Given the description of an element on the screen output the (x, y) to click on. 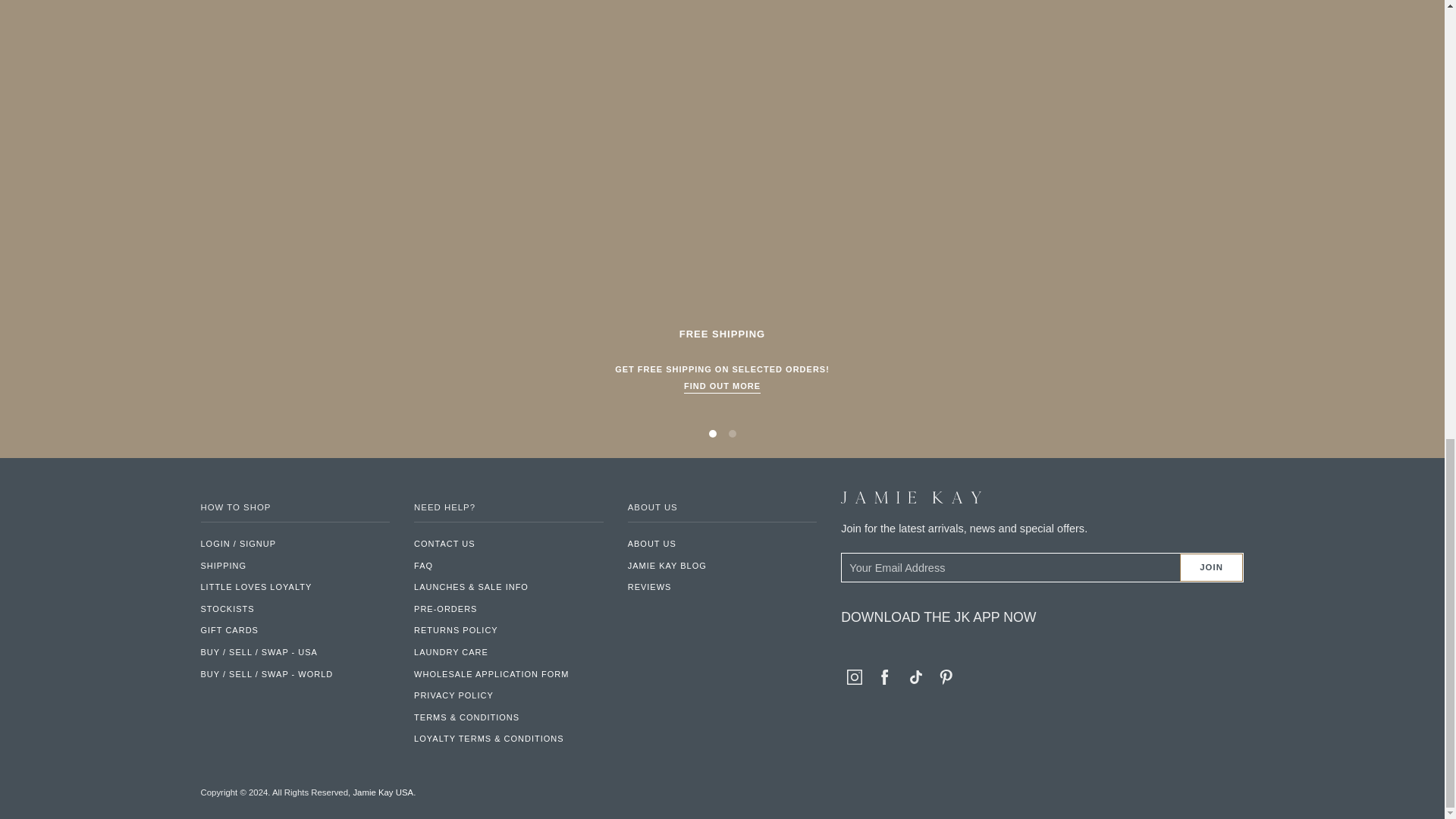
Instagram (854, 676)
Pinterest (946, 676)
Tiktok (915, 676)
Facebook (884, 676)
